Given the description of an element on the screen output the (x, y) to click on. 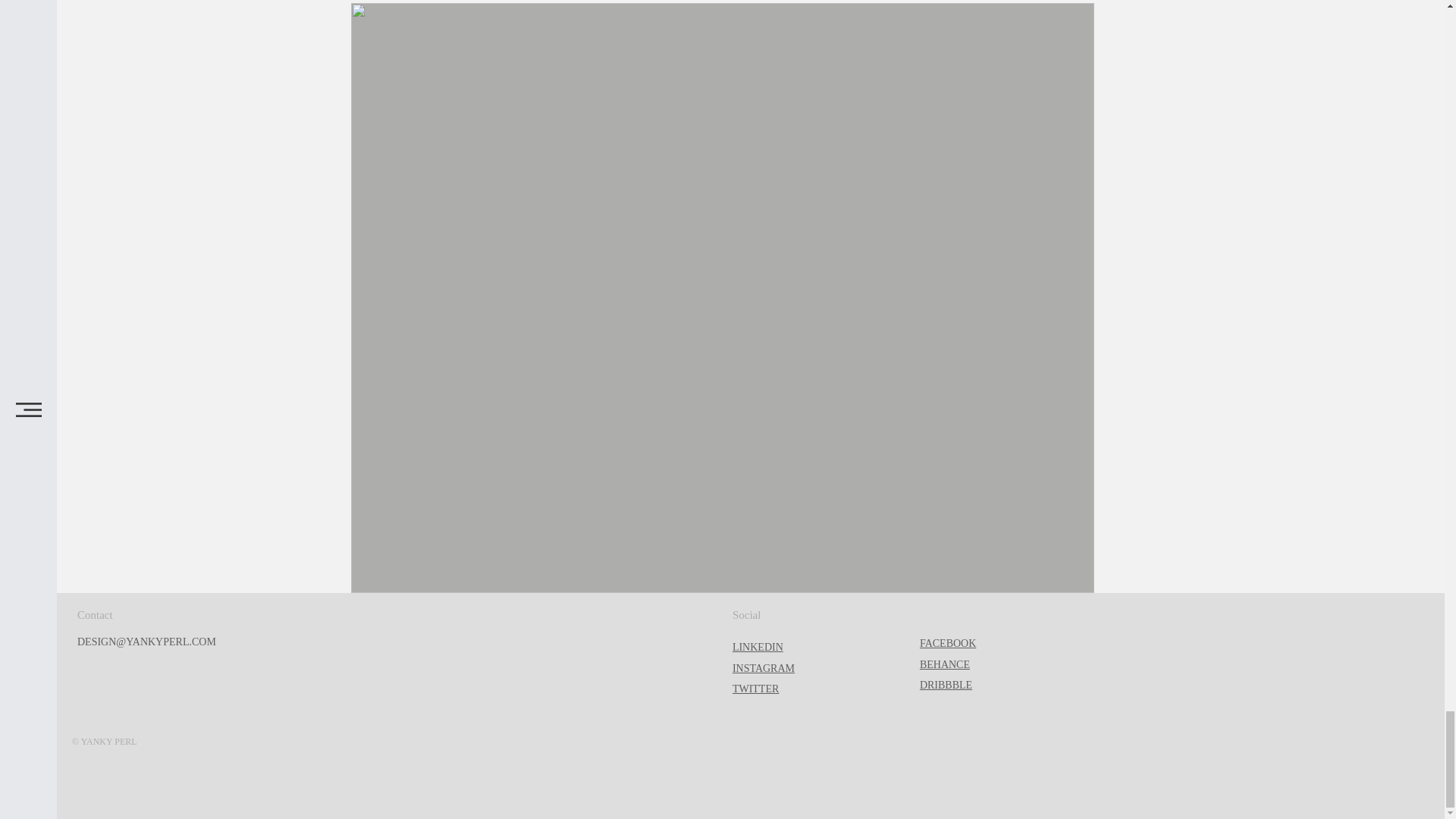
FACEBOOK (947, 643)
BEHANCE (944, 664)
TWITTER (755, 688)
INSTAGRAM (763, 667)
DRIBBBLE (946, 685)
LINKEDIN (757, 646)
